Given the description of an element on the screen output the (x, y) to click on. 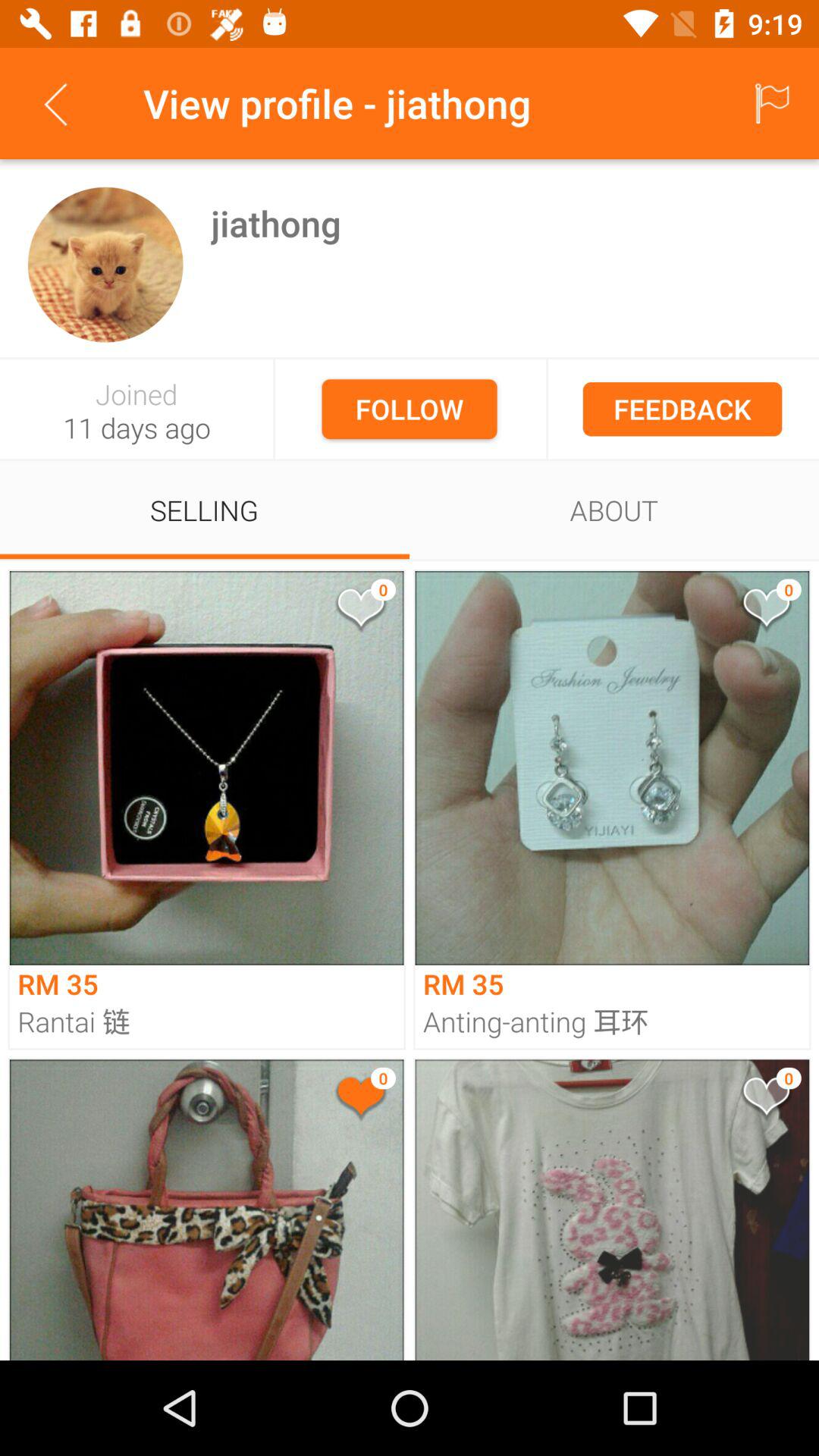
inspect profile (105, 264)
